Given the description of an element on the screen output the (x, y) to click on. 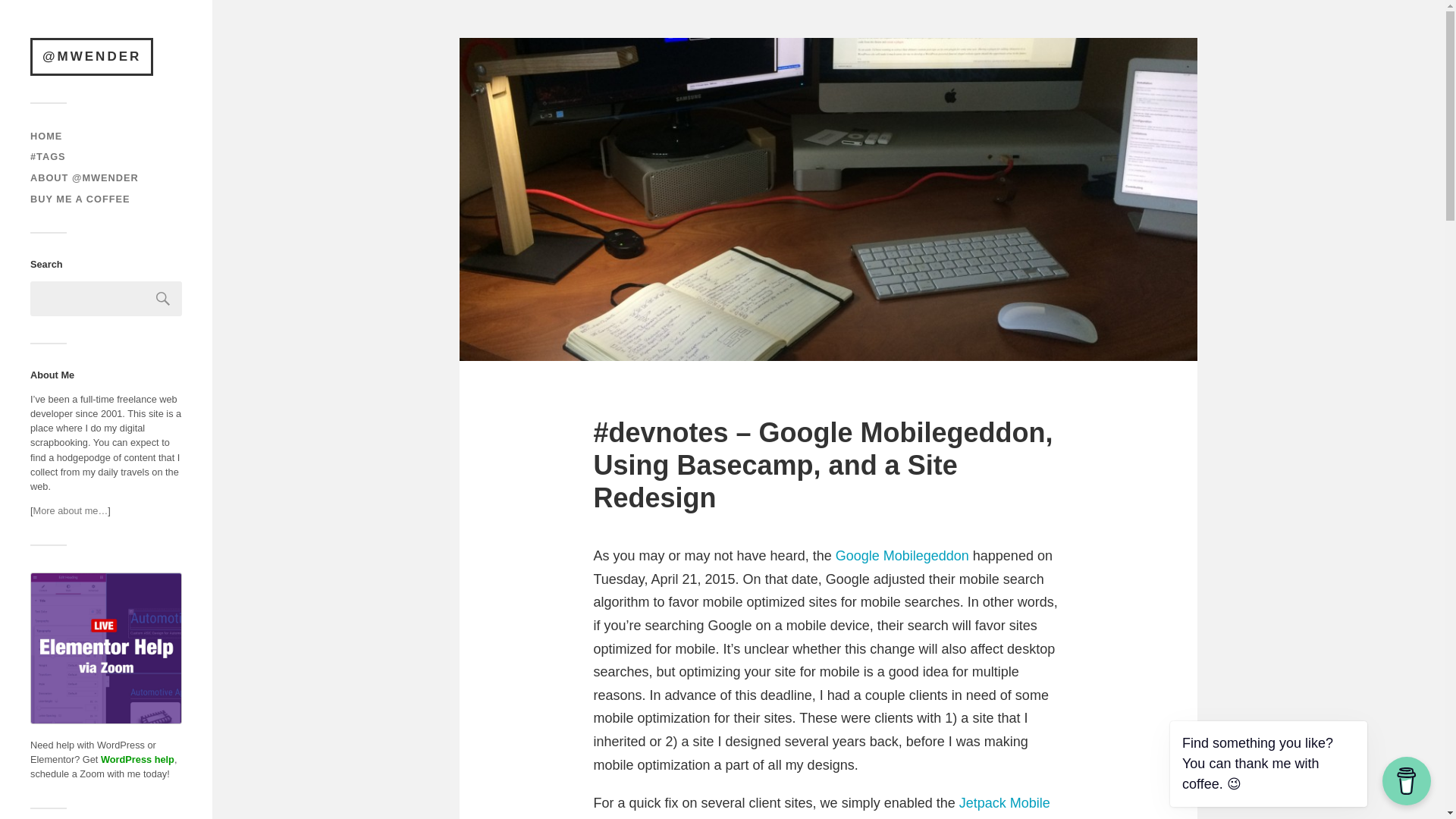
Google Mobilegeddon (902, 555)
Search (163, 298)
Jetpack Mobile Theme (820, 807)
Search (163, 298)
HOME (46, 135)
WordPress help (137, 758)
BUY ME A COFFEE (80, 198)
